Given the description of an element on the screen output the (x, y) to click on. 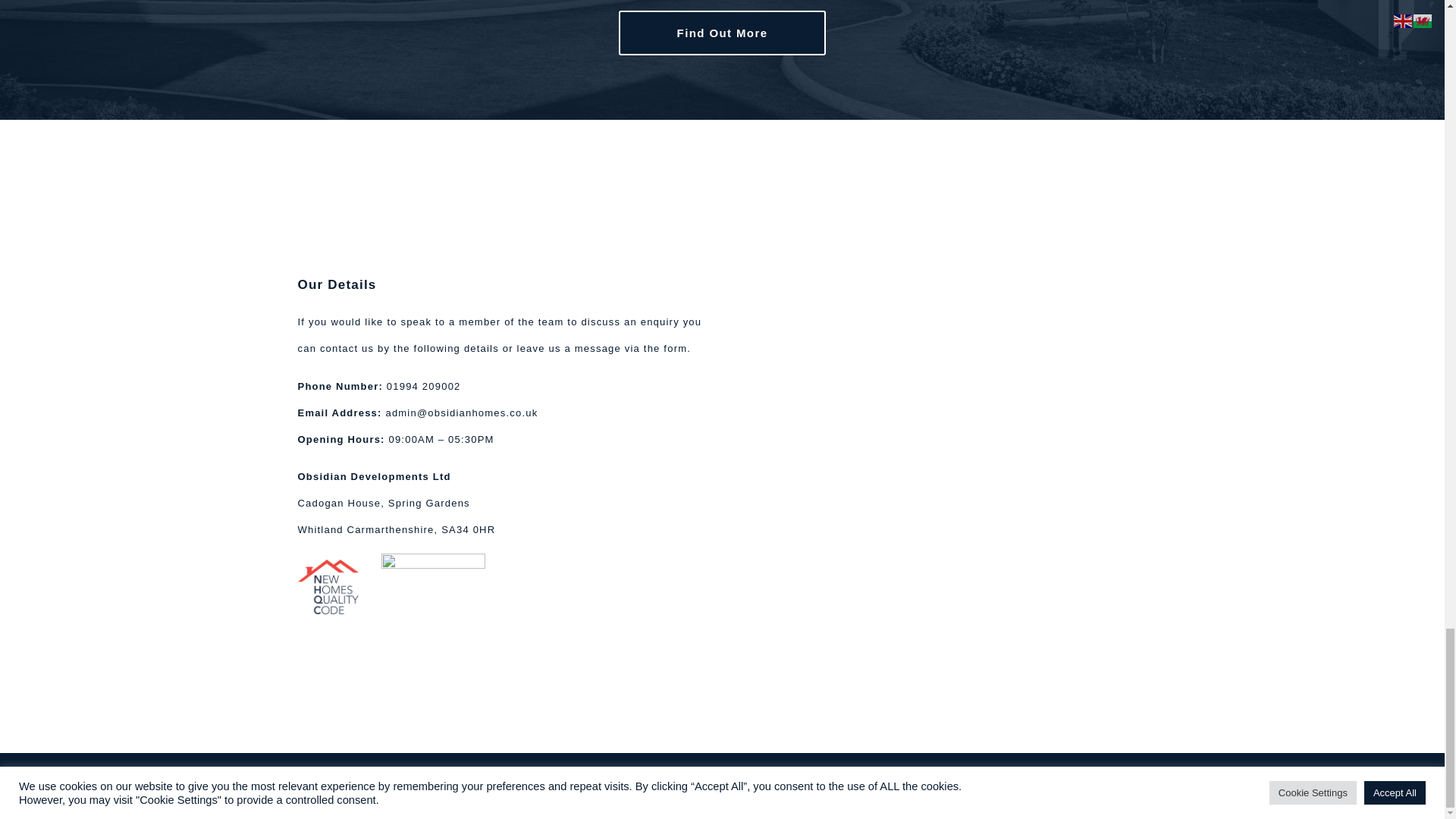
Data Protection Policy (768, 771)
Find Out More (722, 32)
iCreate.co.uk (1118, 785)
01994 209002 (424, 386)
